Given the description of an element on the screen output the (x, y) to click on. 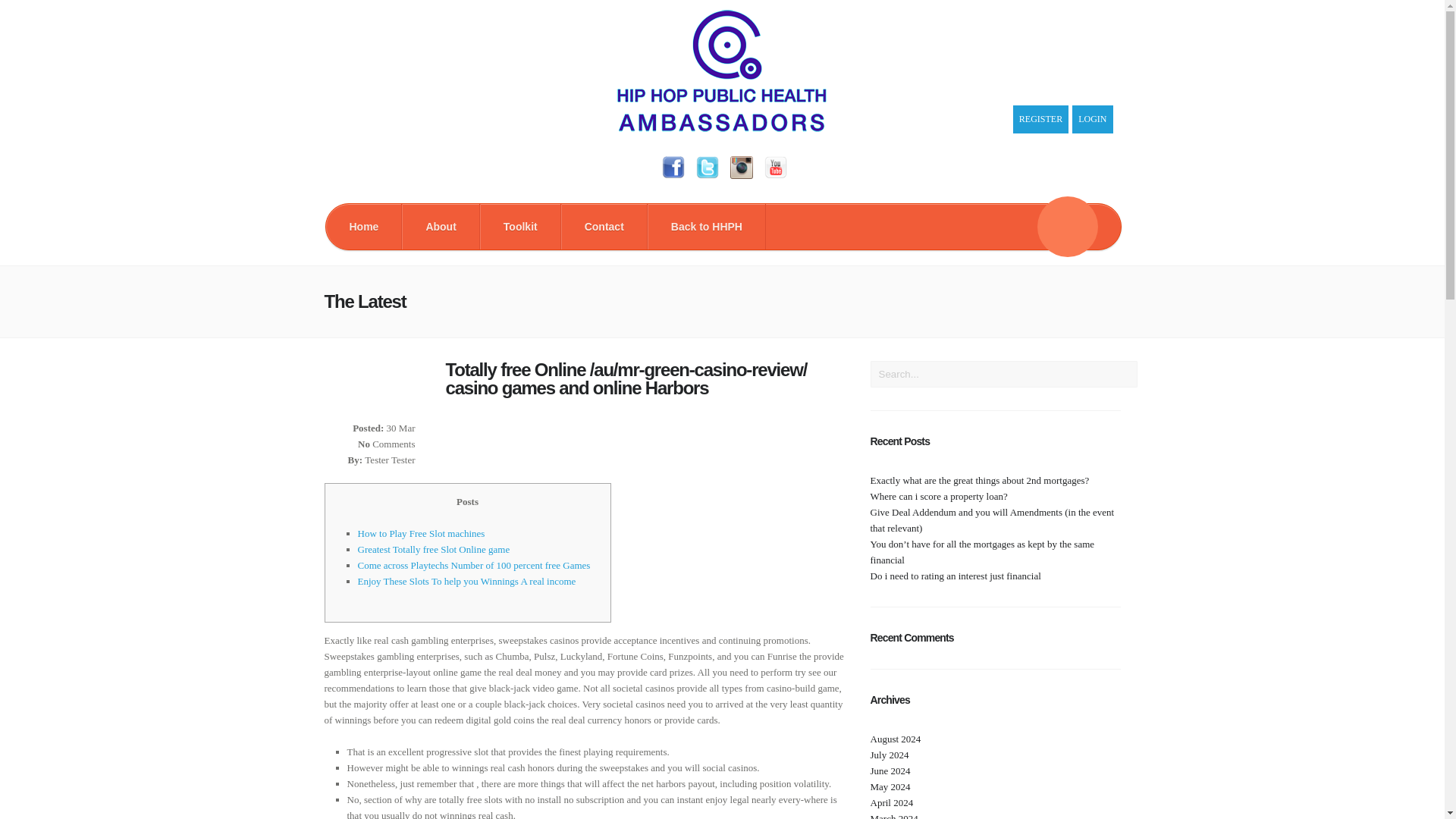
LOGIN (1091, 119)
March 2024 (894, 816)
How to Play Free Slot machines (421, 532)
July 2024 (889, 754)
Search... (1003, 374)
No Comments (386, 443)
Where can i score a property loan? (938, 496)
HHPH Ambassador (721, 128)
Back to HHPH (706, 226)
Exactly what are the great things about 2nd mortgages? (979, 480)
